Given the description of an element on the screen output the (x, y) to click on. 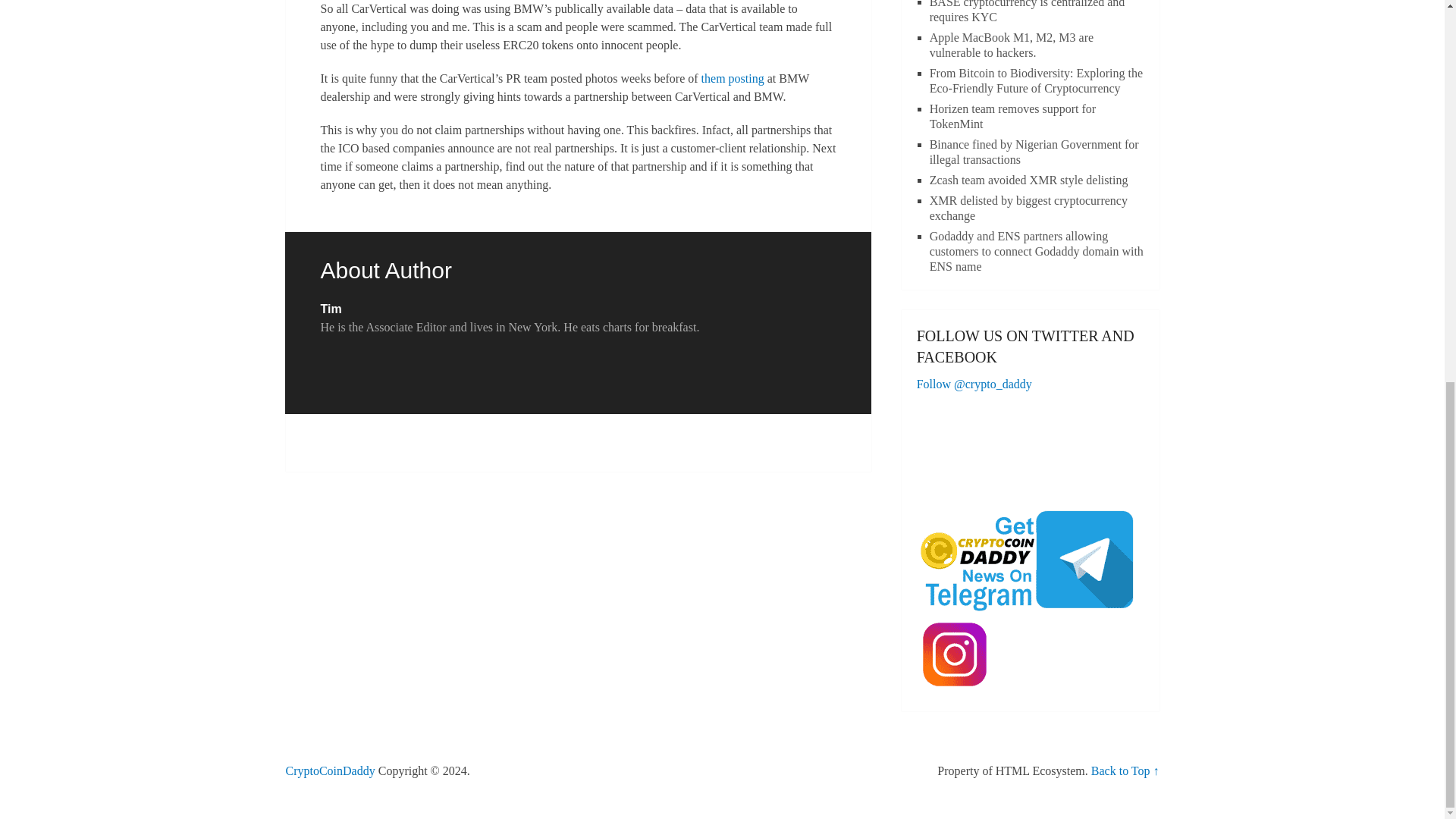
Apple MacBook M1, M2, M3 are vulnerable to hackers.  (1011, 44)
BASE cryptocurrency is centralized and requires KYC (1027, 11)
get cryptocoindaddy news on telegram (1030, 560)
them posting (732, 78)
